Given the description of an element on the screen output the (x, y) to click on. 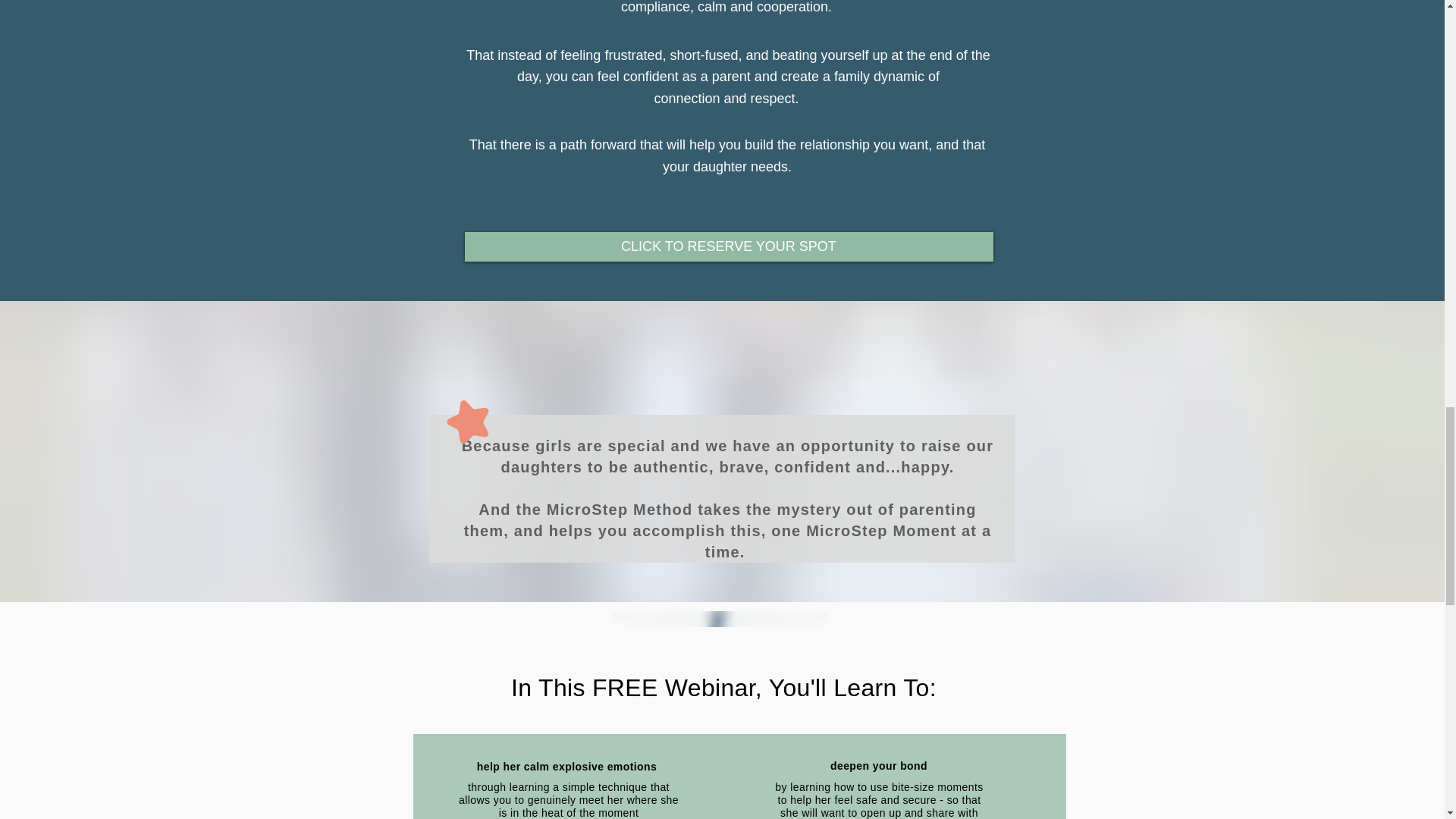
CLICK TO RESERVE YOUR SPOT (728, 246)
